Given the description of an element on the screen output the (x, y) to click on. 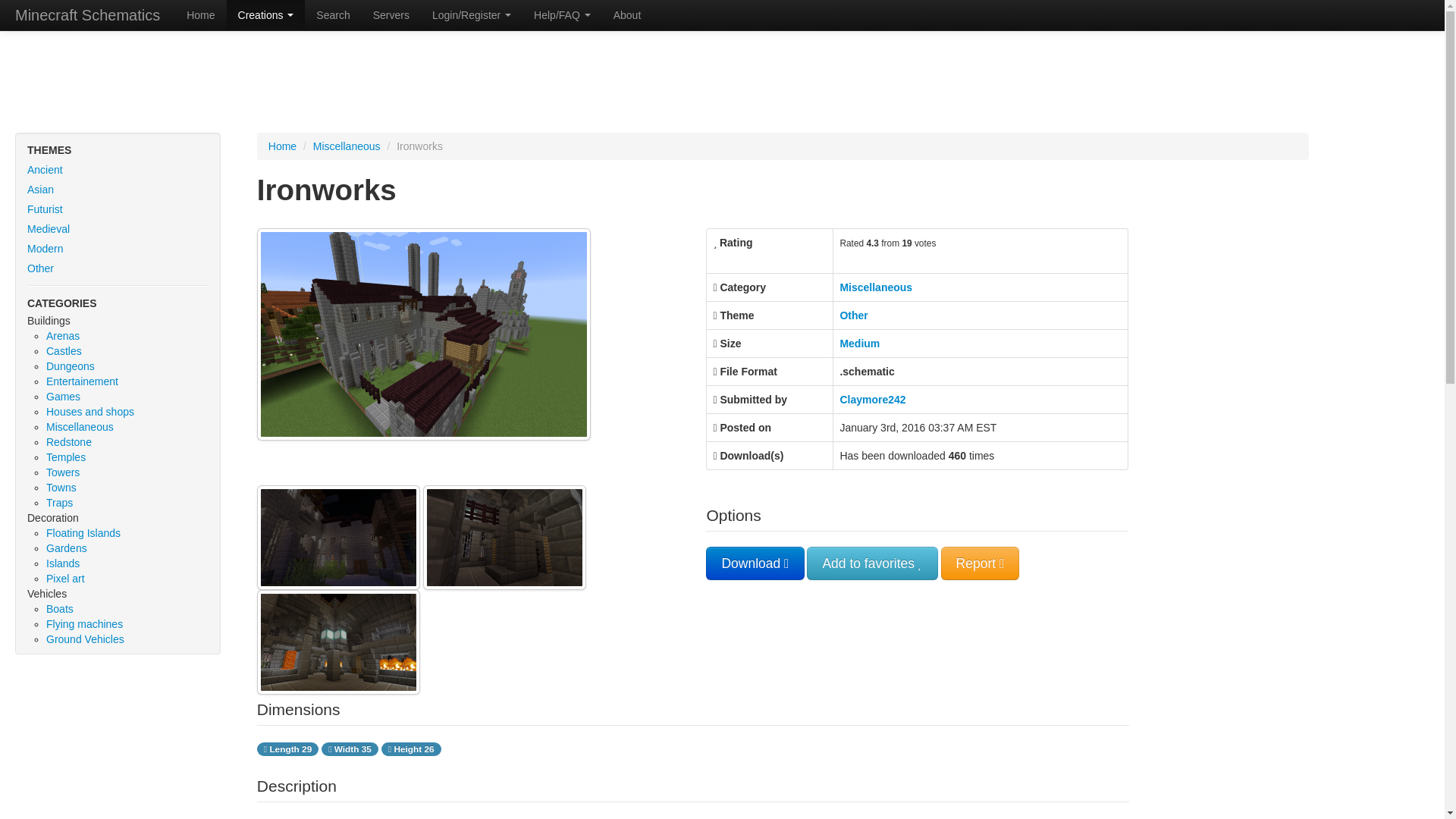
Modern (117, 248)
Dungeons (70, 366)
Other (117, 268)
Futurist (117, 209)
Home (199, 15)
Creations (266, 15)
Castles (63, 350)
Arenas (63, 336)
Servers (390, 15)
Ancient (117, 169)
Search (332, 15)
Medieval (117, 229)
About (627, 15)
Minecraft Schematics (87, 15)
Asian (117, 189)
